Given the description of an element on the screen output the (x, y) to click on. 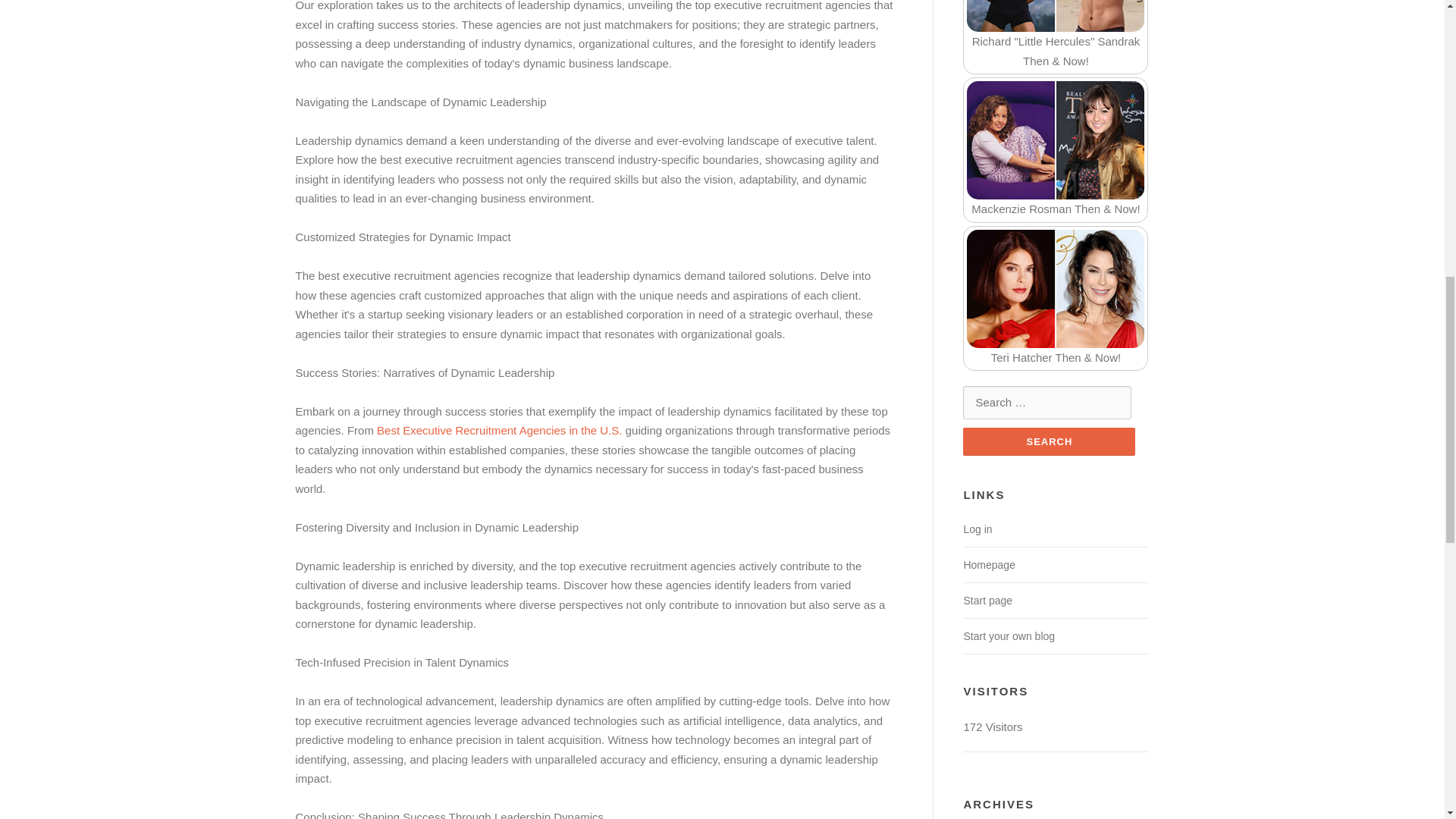
Log in (976, 529)
Search (1048, 441)
Start page (986, 600)
Homepage (988, 564)
Search (1048, 441)
Search (1048, 441)
Best Executive Recruitment Agencies in the U.S. (500, 430)
Start your own blog (1008, 635)
